Given the description of an element on the screen output the (x, y) to click on. 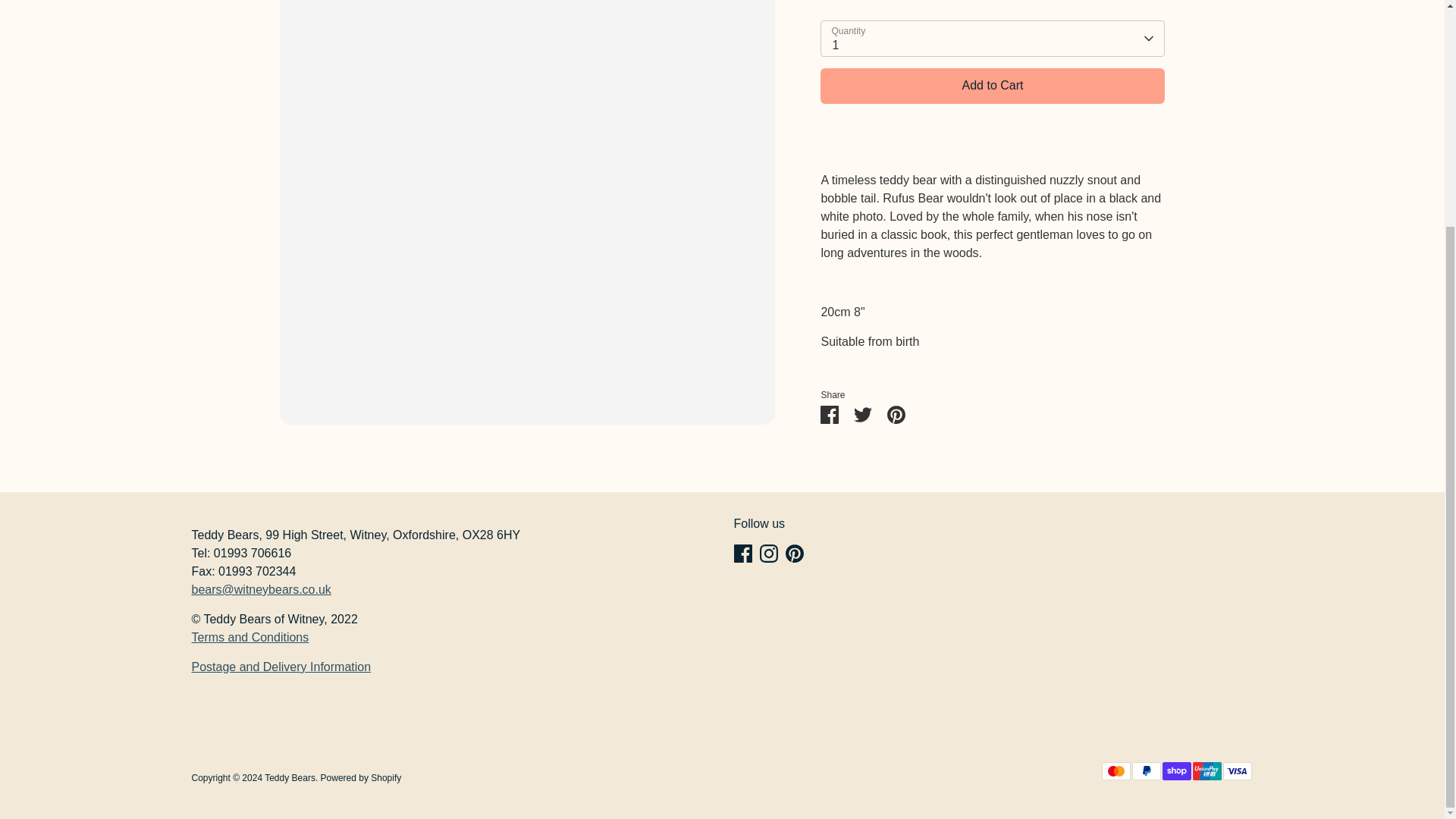
Terms and Conditions (249, 636)
Postage and Delivery Information (280, 666)
Union Pay (1206, 771)
PayPal (1145, 771)
Visa (1236, 771)
Shop Pay (1176, 771)
Mastercard (1114, 771)
